Given the description of an element on the screen output the (x, y) to click on. 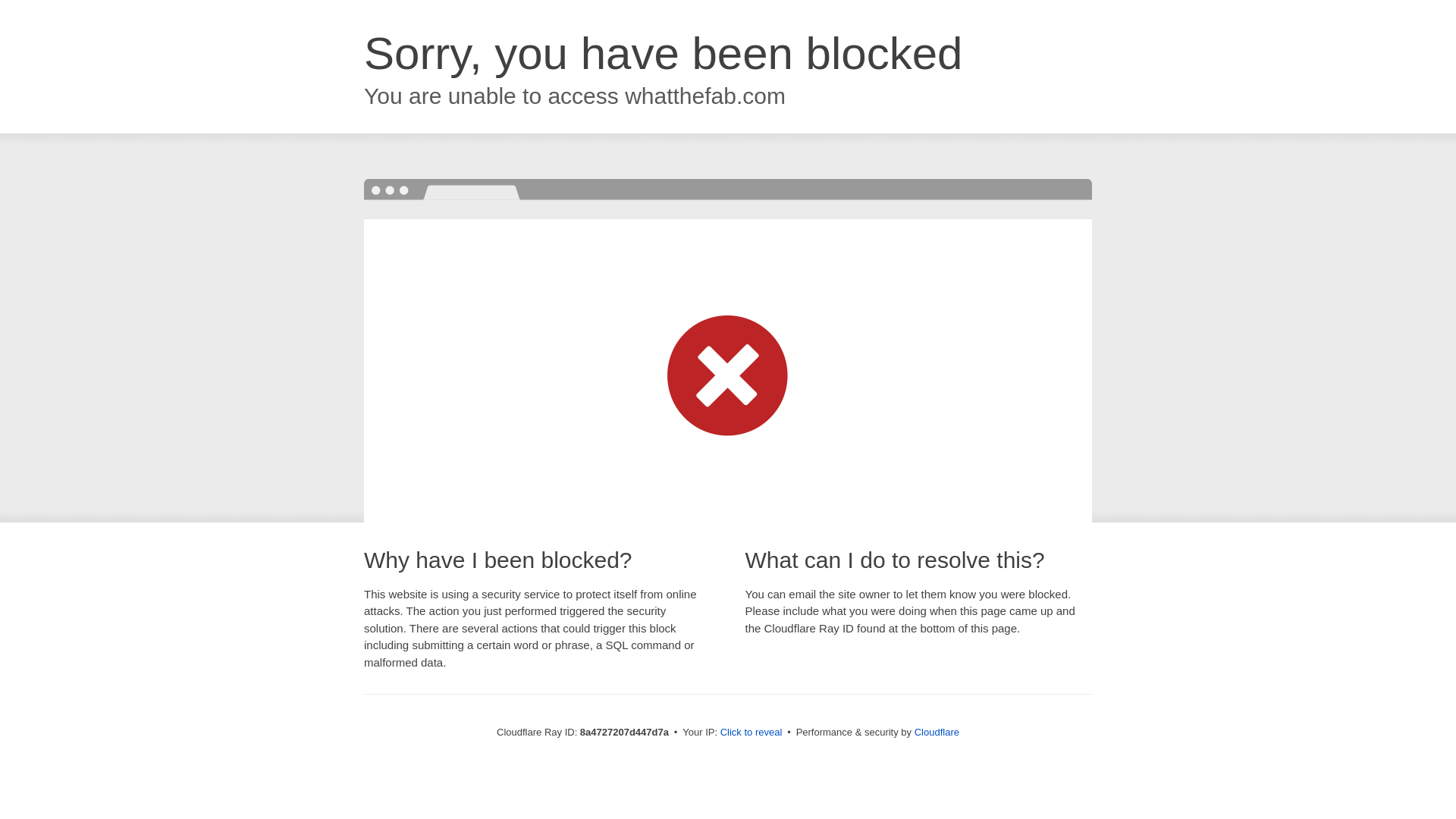
Cloudflare (936, 731)
Click to reveal (751, 732)
